Given the description of an element on the screen output the (x, y) to click on. 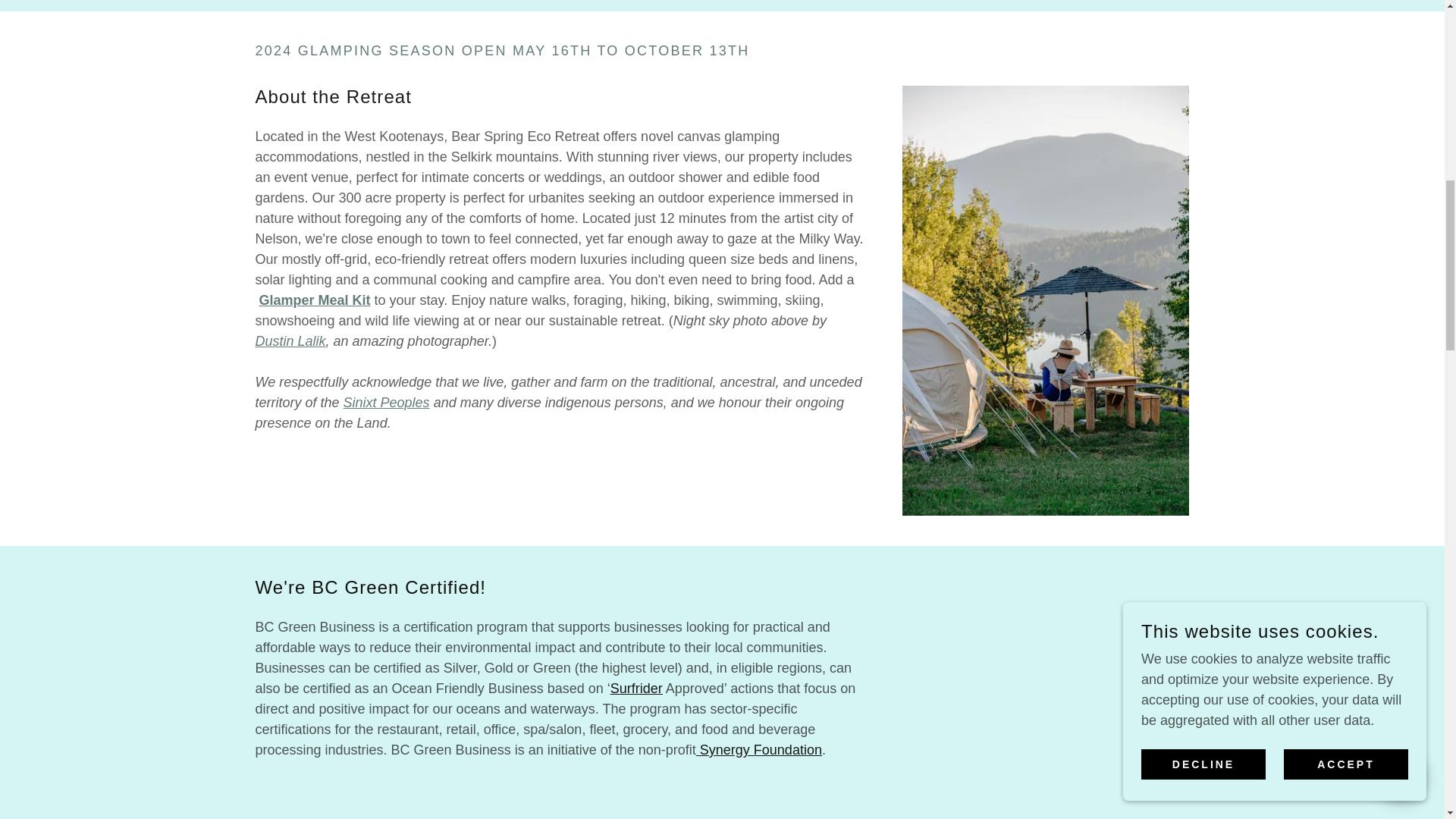
Surfrider (636, 688)
Sinixt Peoples (386, 402)
Dustin Lalik (289, 340)
Synergy Foundation (758, 749)
Glamper Meal Kit (315, 299)
